Given the description of an element on the screen output the (x, y) to click on. 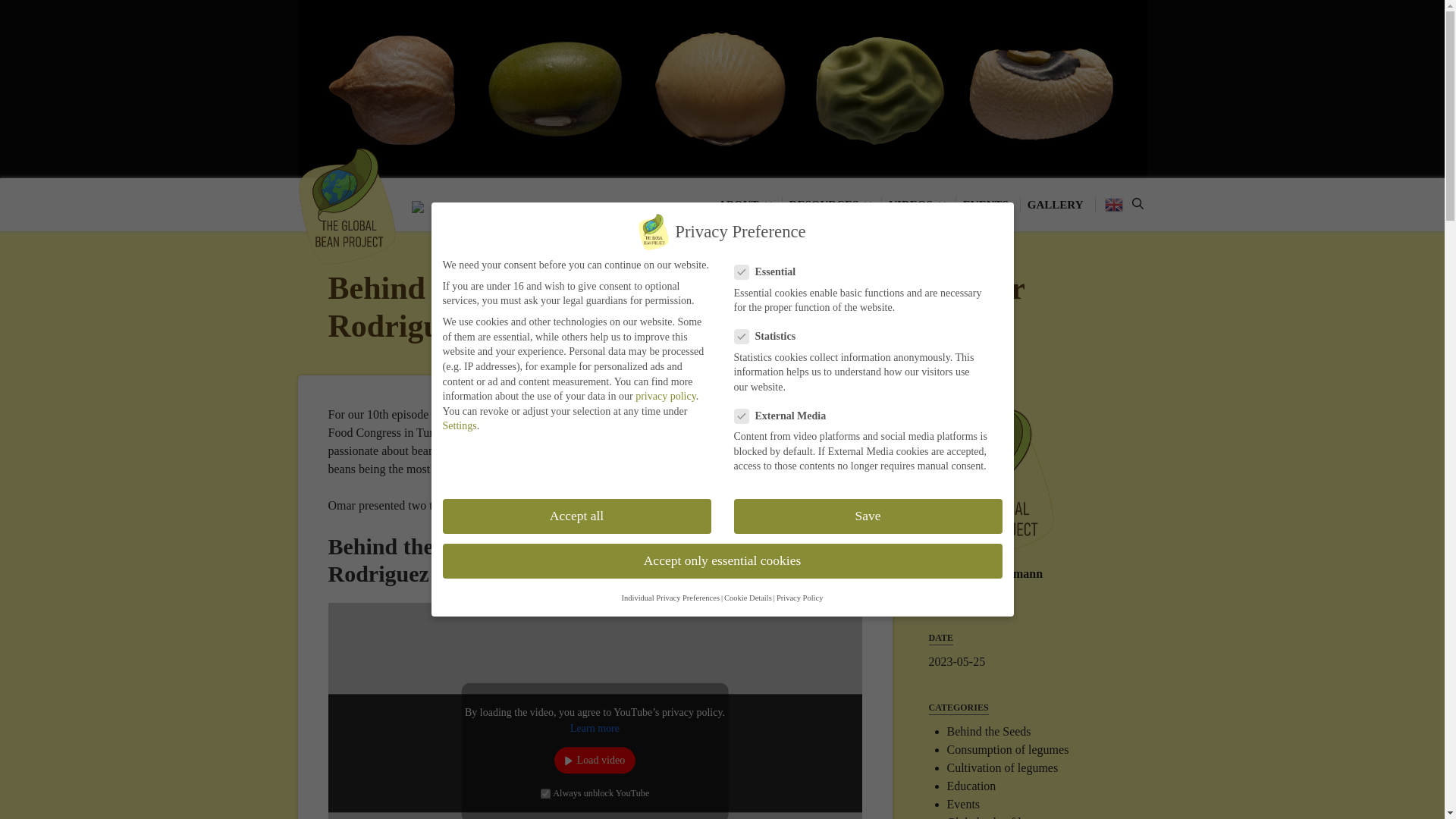
GALLERY (1057, 204)
VIDEOS (917, 204)
RESOURCES (831, 204)
ABOUT (745, 204)
1 (545, 793)
EVENTS (987, 204)
